Given the description of an element on the screen output the (x, y) to click on. 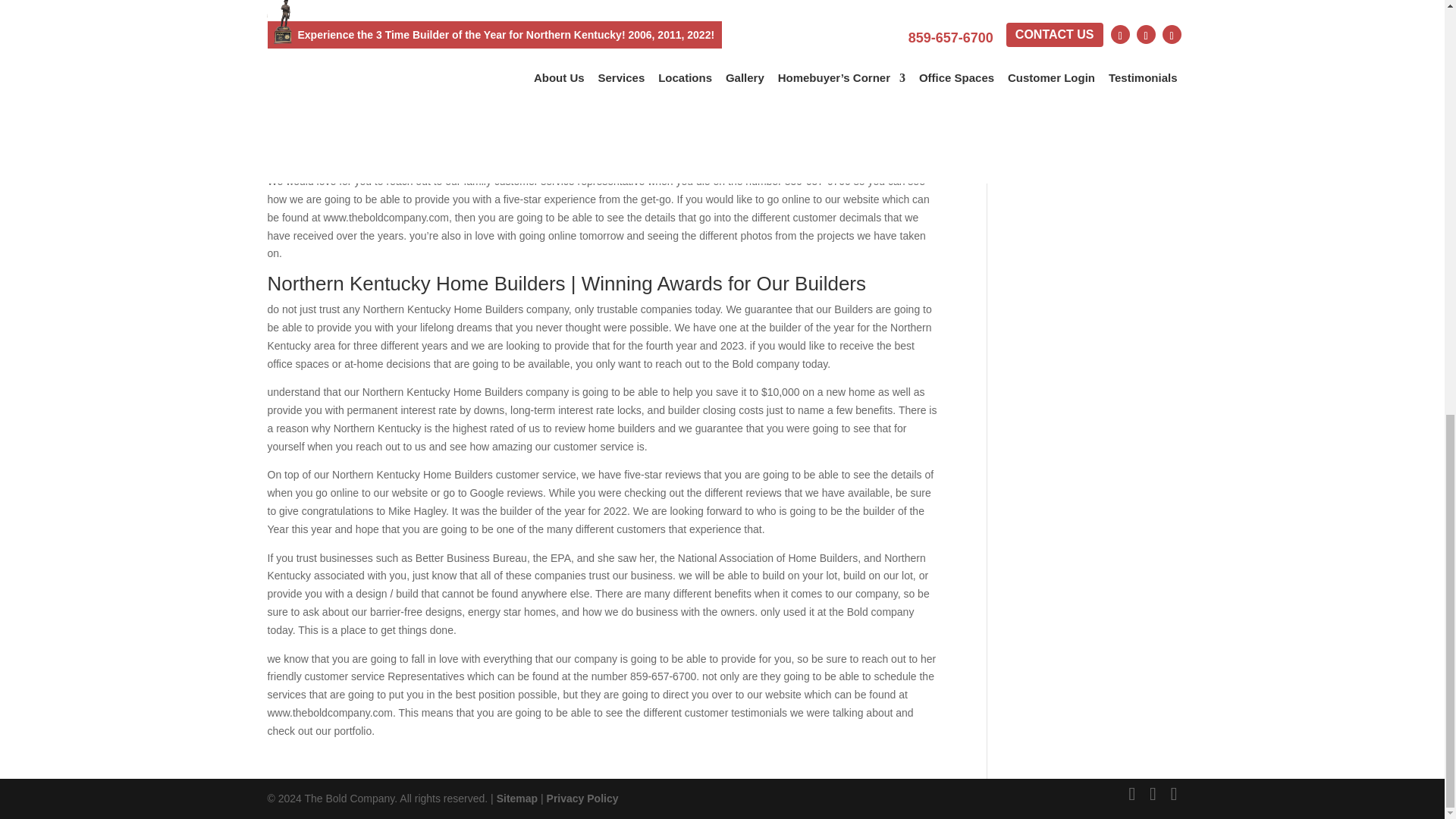
Privacy Policy (582, 798)
Sitemap (516, 798)
